Given the description of an element on the screen output the (x, y) to click on. 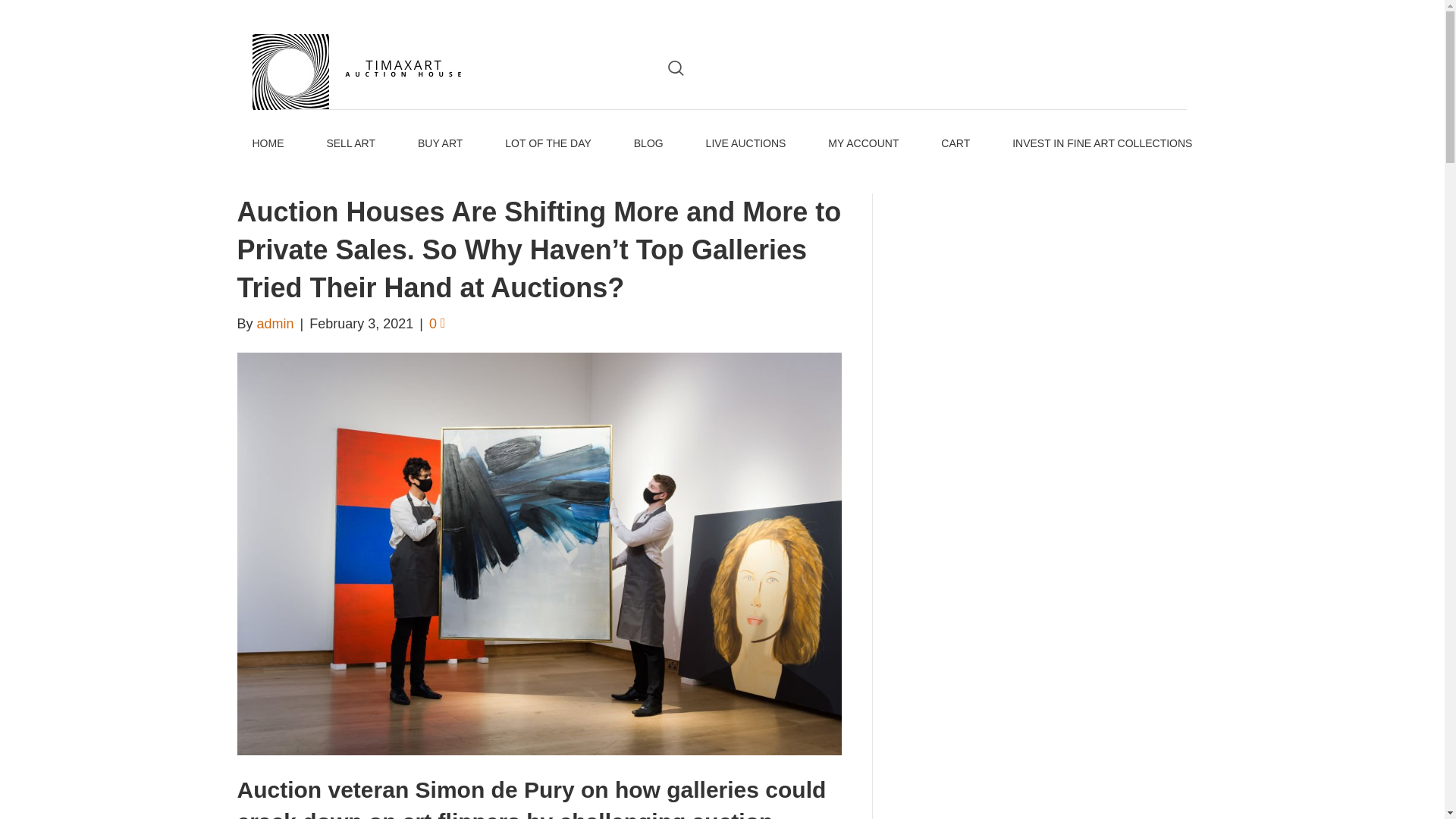
LOT OF THE DAY (547, 143)
SELL ART (350, 143)
BUY ART (440, 143)
HOME (267, 143)
